Given the description of an element on the screen output the (x, y) to click on. 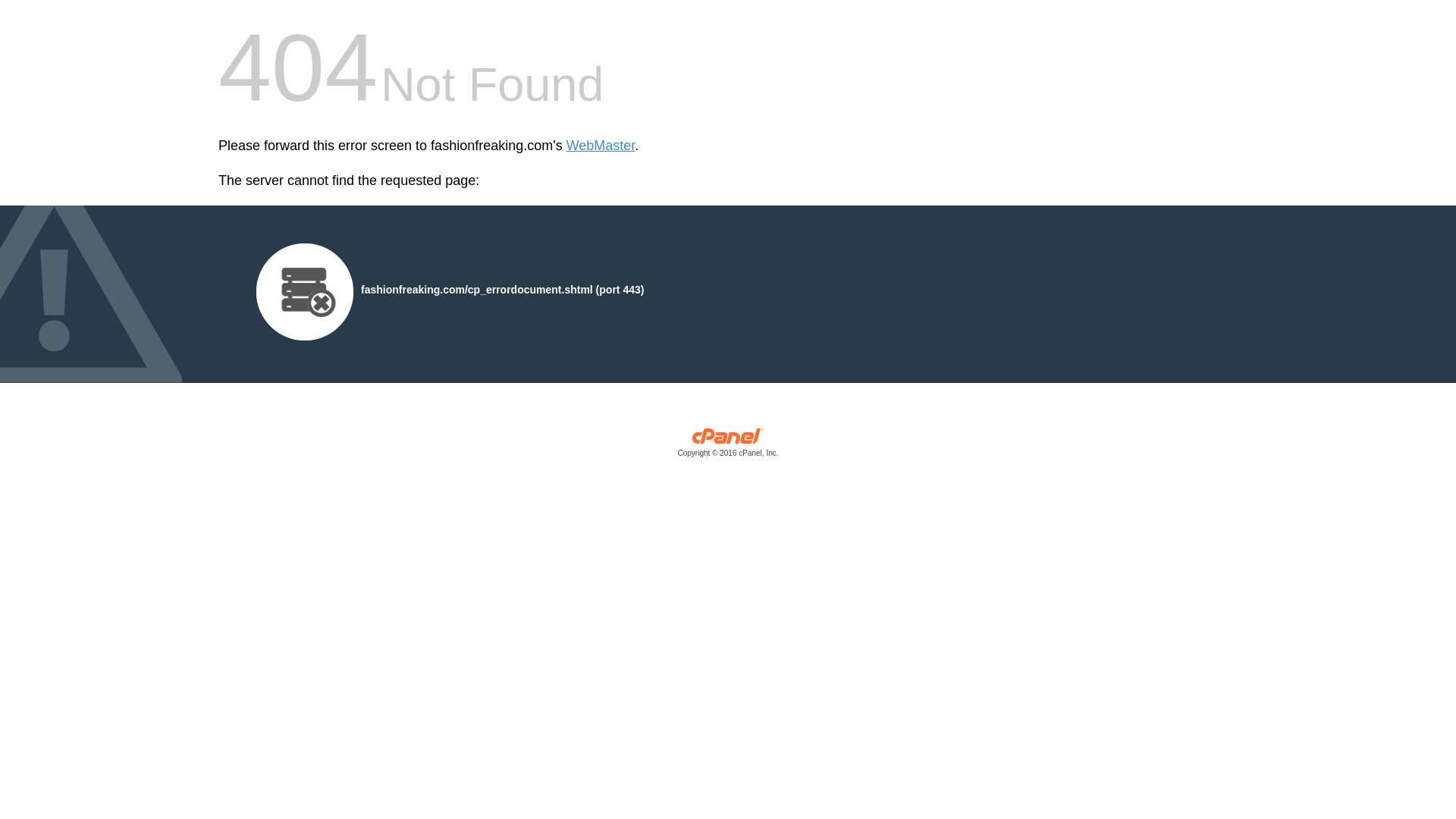
cPanel, Inc. (727, 446)
WebMaster (600, 145)
